Given the description of an element on the screen output the (x, y) to click on. 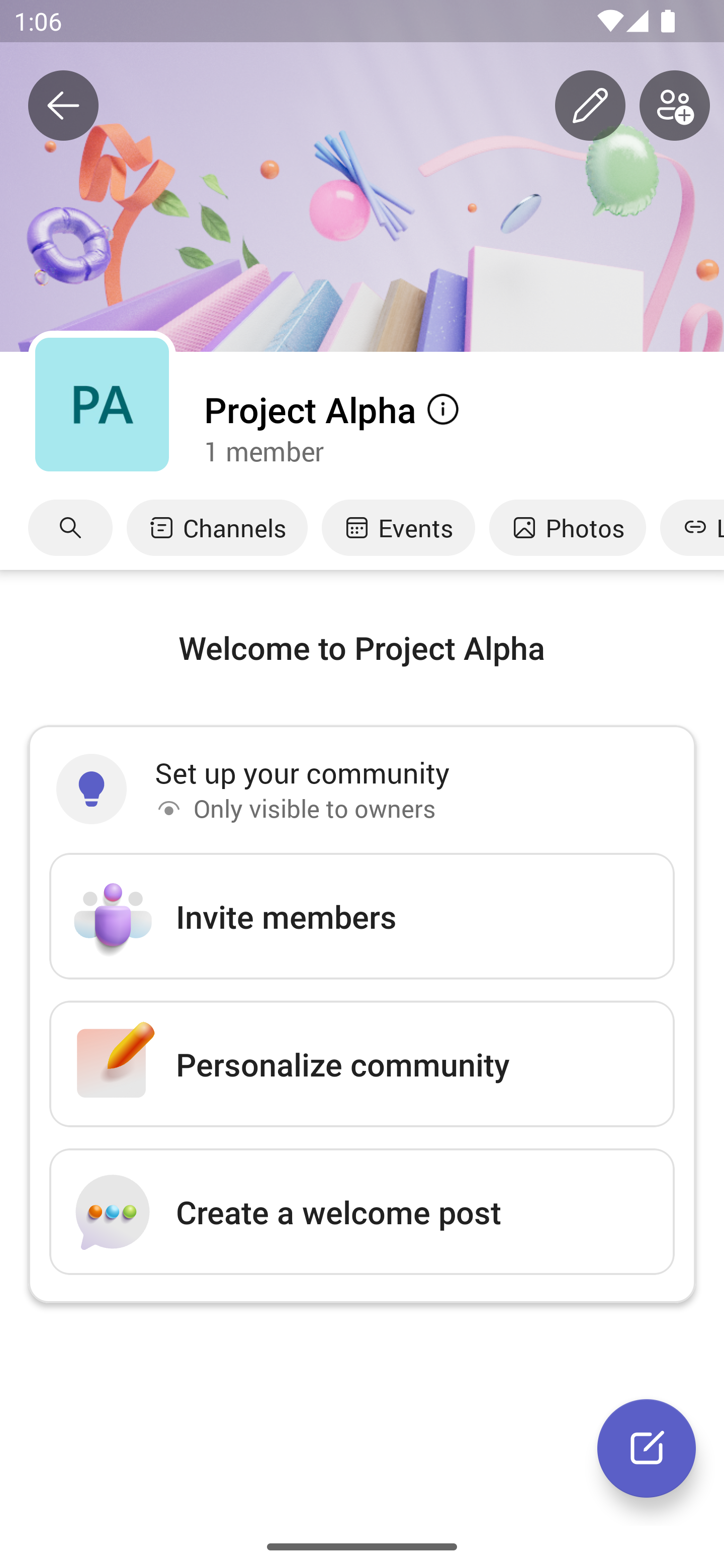
Back (63, 105)
Edit banner image (590, 105)
Add members (674, 105)
Project Alpha 1 member (462, 427)
Search tab, 1 of 6 (70, 527)
Channels tab, 2 of 6 Channels (216, 527)
Events tab, 3 of 6 Events (397, 527)
Photos tab, 4 of 6 Photos (567, 527)
Invite members (361, 916)
Personalize community (361, 1063)
Create a welcome post (361, 1210)
New conversation (646, 1447)
